Given the description of an element on the screen output the (x, y) to click on. 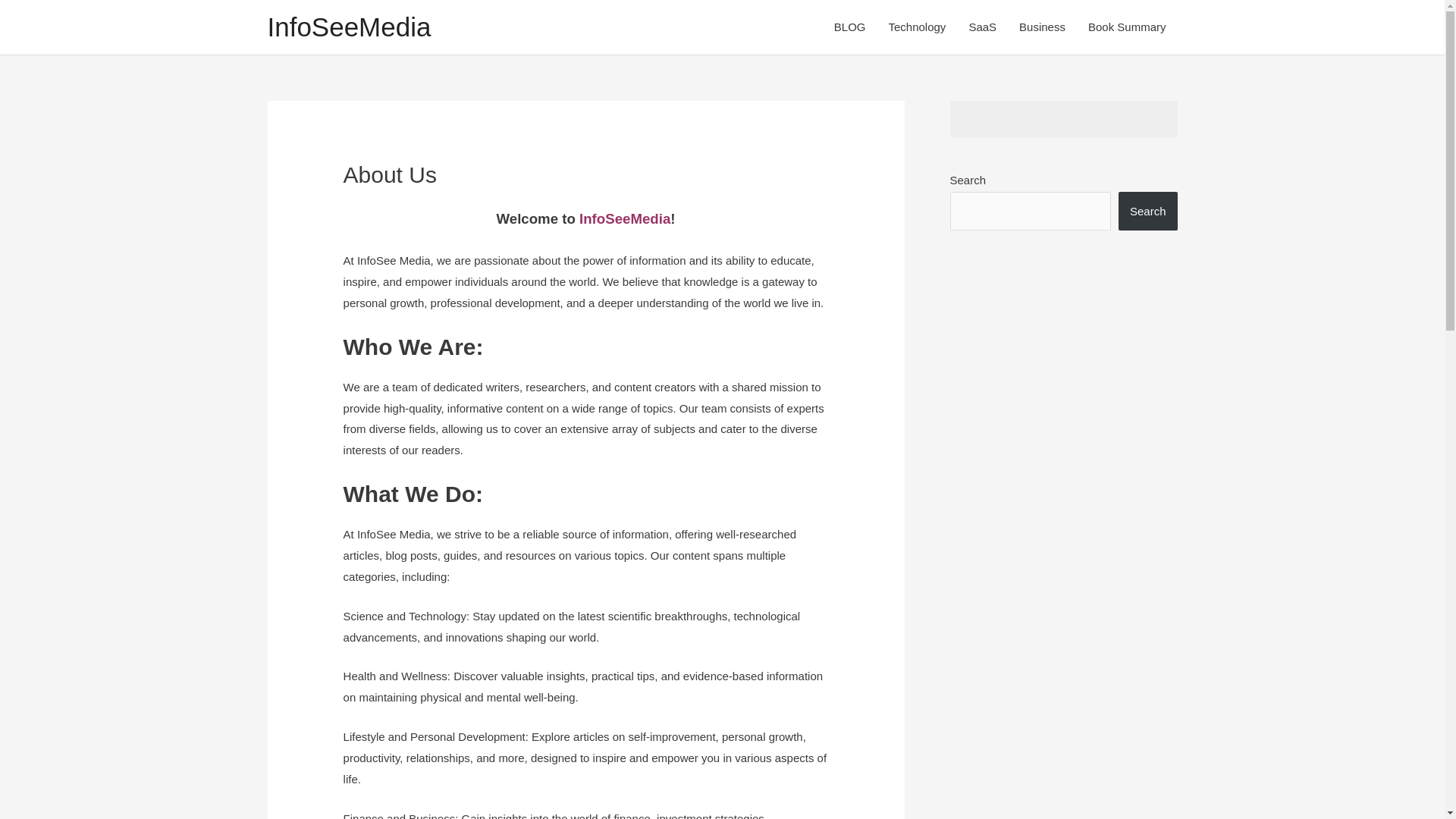
Business (1042, 27)
Search (1147, 210)
Technology (916, 27)
BLOG (849, 27)
InfoSeeMedia (348, 26)
Book Summary (1127, 27)
SaaS (981, 27)
